Given the description of an element on the screen output the (x, y) to click on. 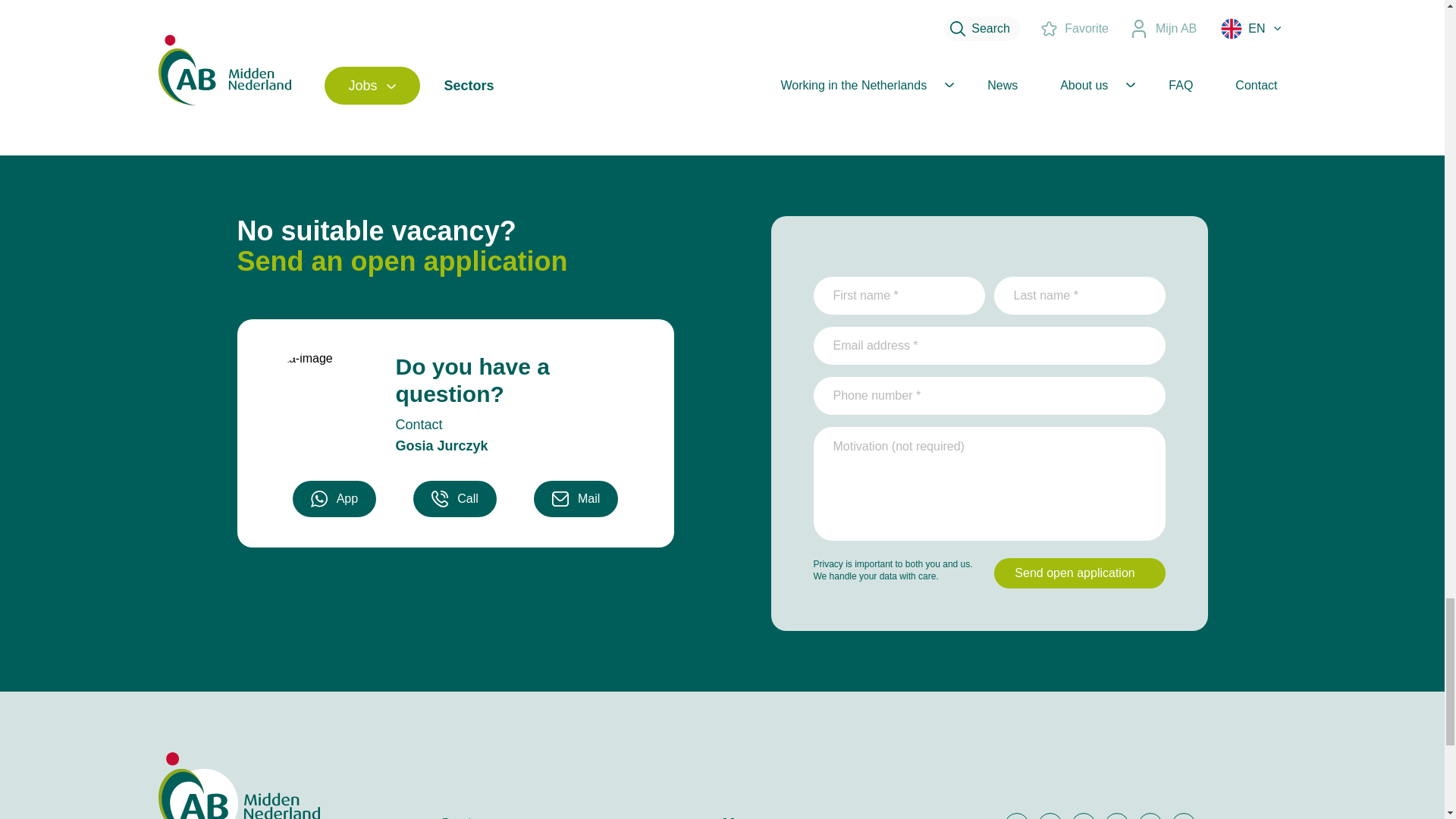
Apply now (392, 76)
App (333, 498)
Call (454, 498)
Mail (575, 498)
